Given the description of an element on the screen output the (x, y) to click on. 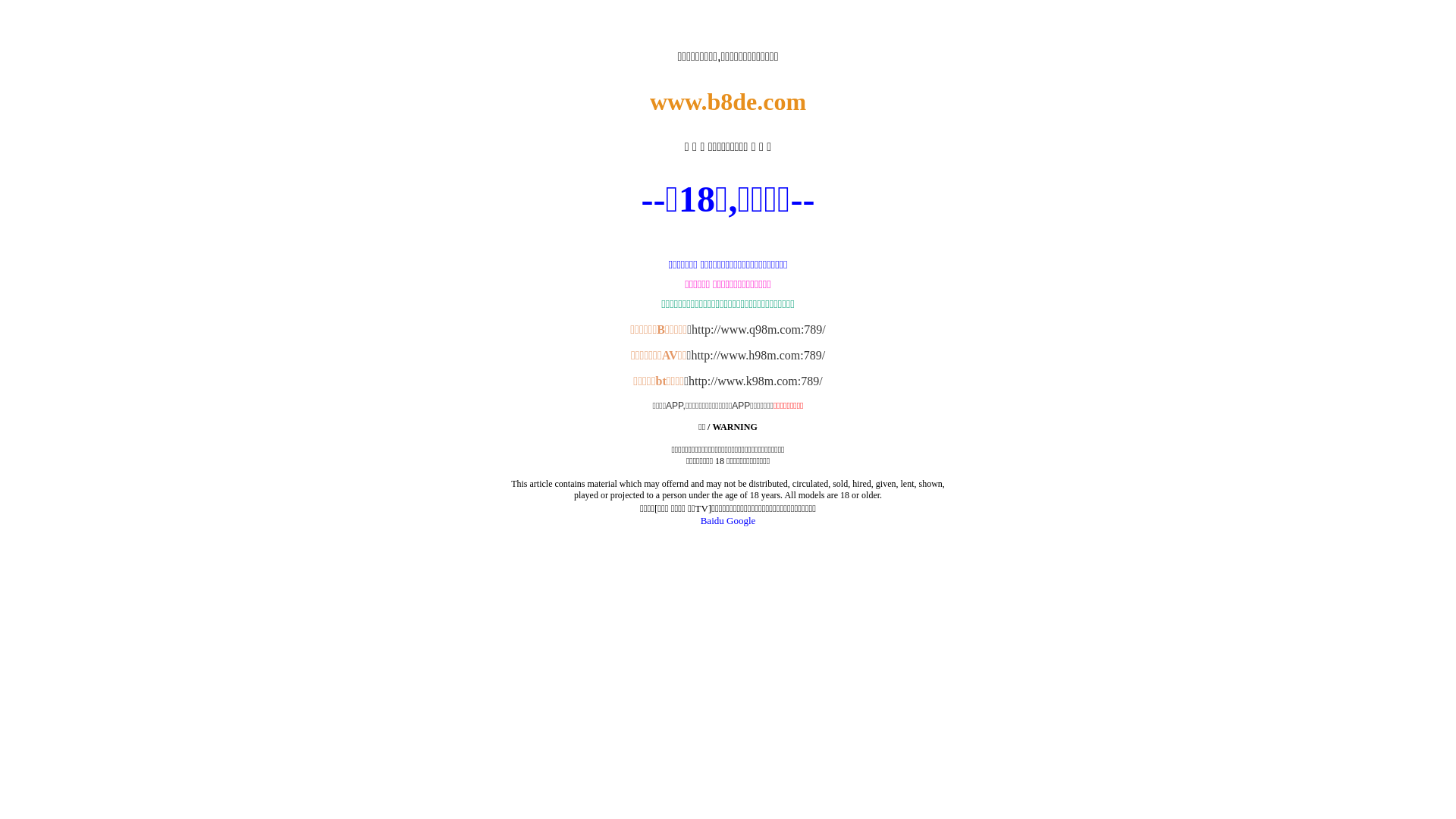
Baidu Element type: text (712, 520)
Google Element type: text (740, 520)
